Given the description of an element on the screen output the (x, y) to click on. 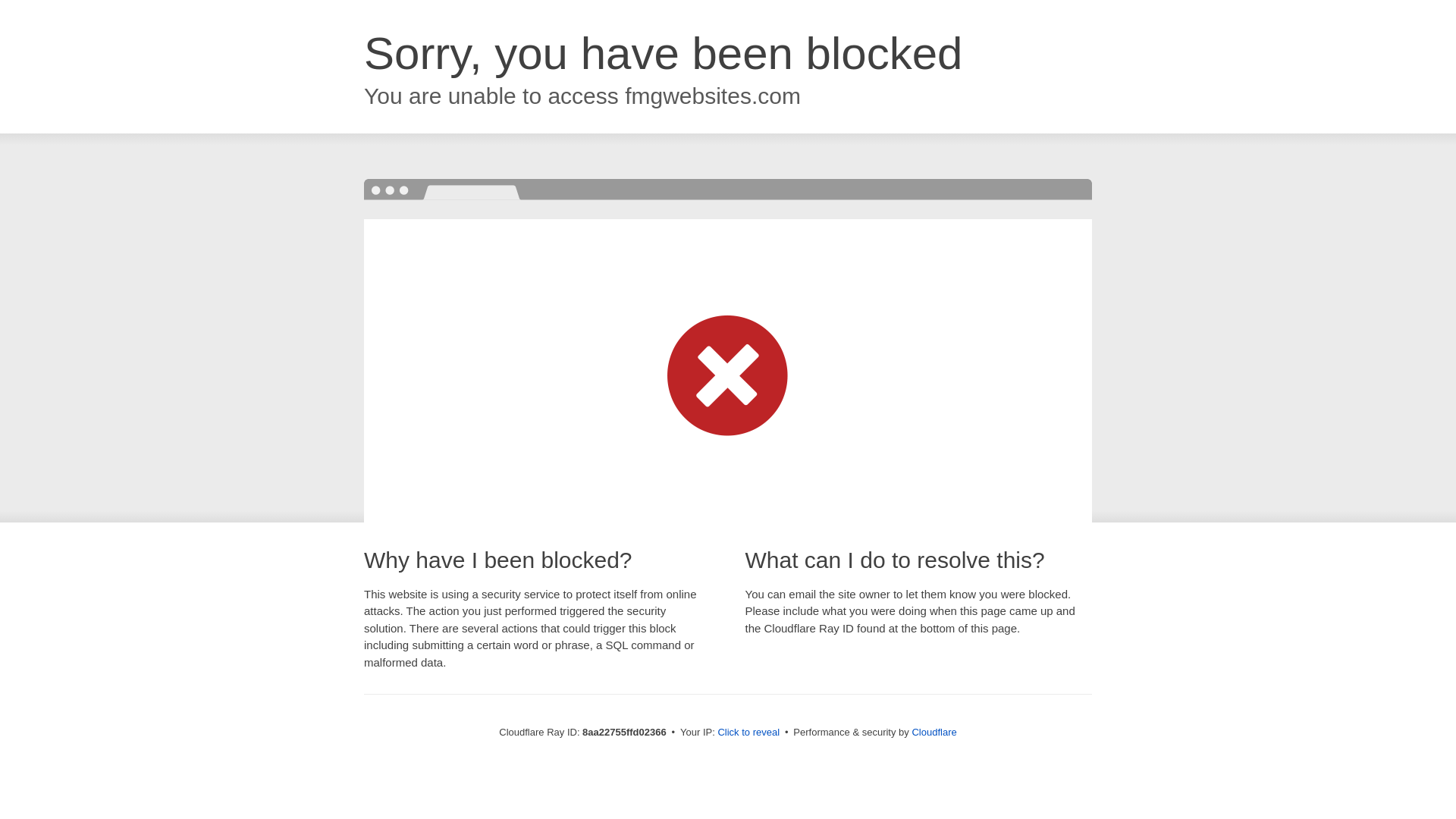
Cloudflare (933, 731)
Click to reveal (747, 732)
